Given the description of an element on the screen output the (x, y) to click on. 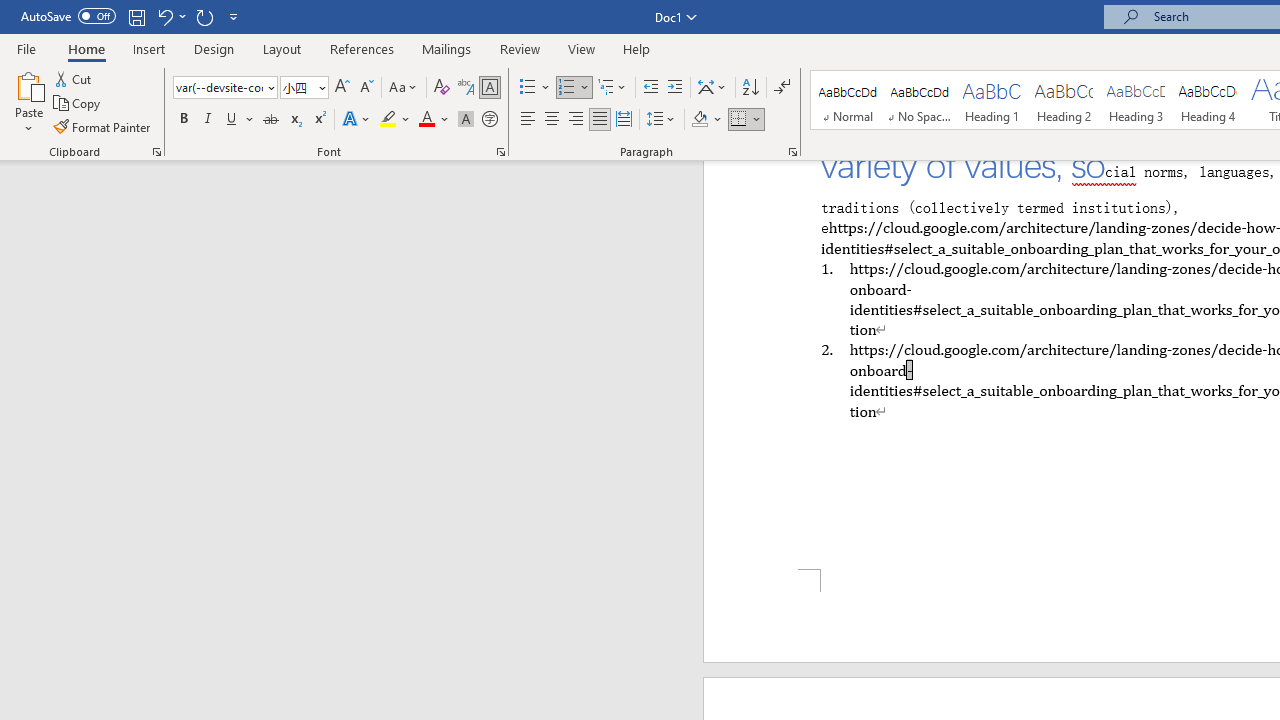
File Tab (26, 48)
Paragraph... (792, 151)
Heading 1 (991, 100)
Borders (746, 119)
Help (637, 48)
Paste (28, 102)
Cut (73, 78)
Quick Access Toolbar (131, 16)
System (10, 11)
Layout (282, 48)
Enclose Characters... (489, 119)
Subscript (294, 119)
Bullets (535, 87)
AutoSave (68, 16)
Copy (78, 103)
